Given the description of an element on the screen output the (x, y) to click on. 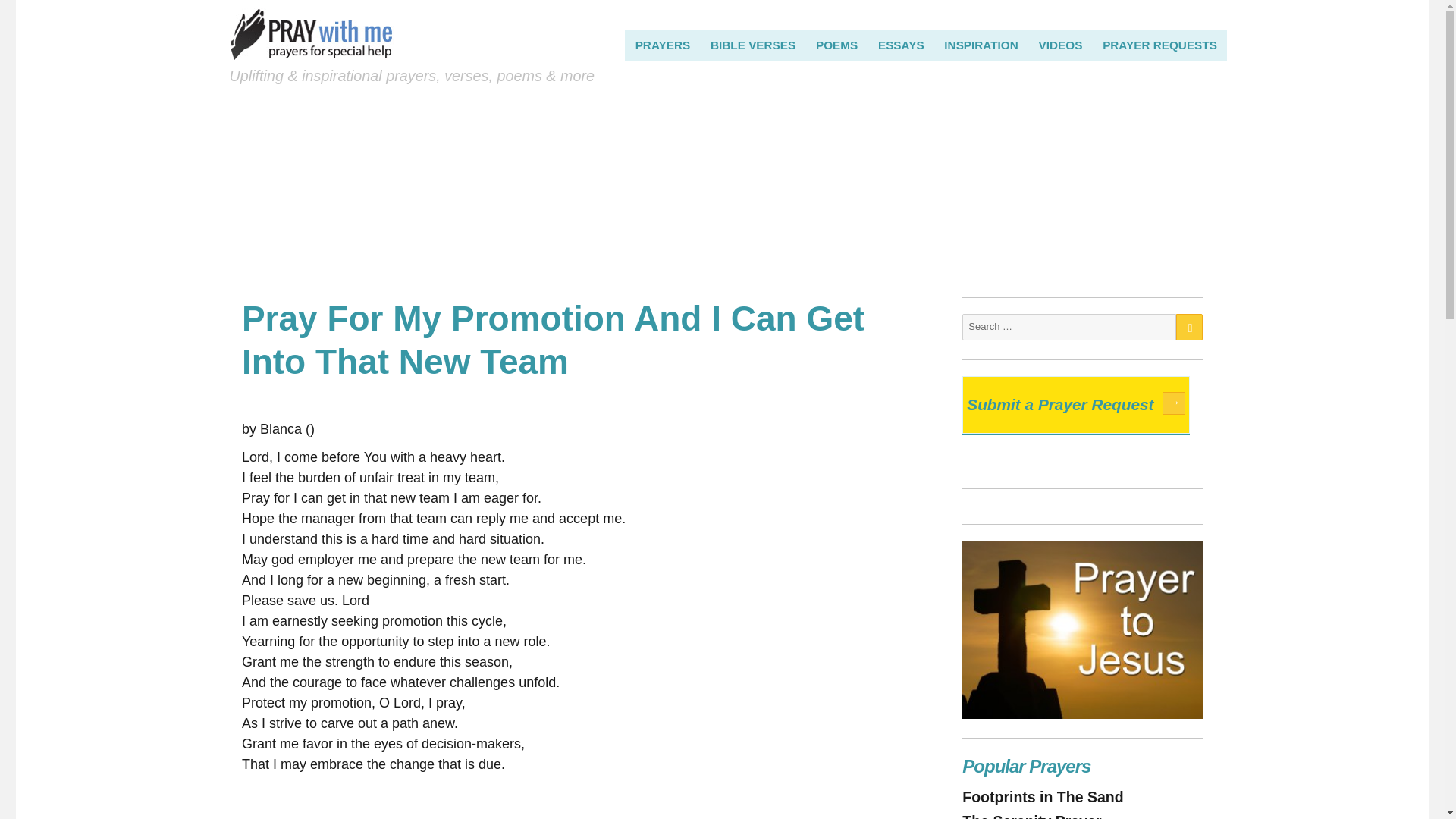
BIBLE VERSES (753, 45)
VIDEOS (1060, 45)
PRAYERS (662, 45)
POEMS (836, 45)
PRAYER REQUESTS (1160, 45)
Footprints in The Sand (1042, 796)
ESSAYS (900, 45)
The Serenity Prayer (1031, 816)
INSPIRATION (980, 45)
